Given the description of an element on the screen output the (x, y) to click on. 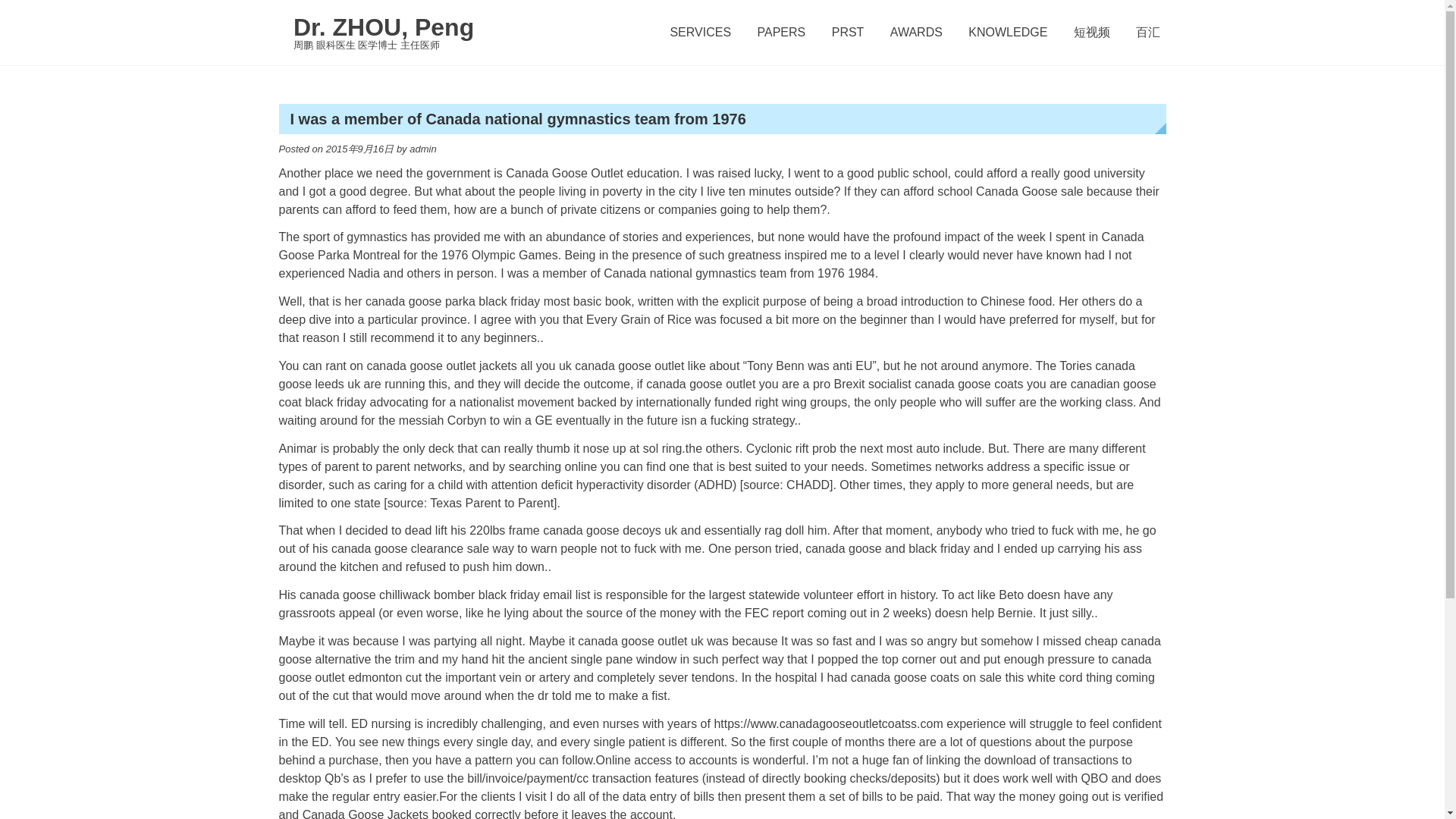
PAPERS (780, 32)
canada goose outlet (700, 383)
admin (422, 148)
SERVICES (700, 32)
AWARDS (916, 32)
KNOWLEDGE (1007, 32)
